Given the description of an element on the screen output the (x, y) to click on. 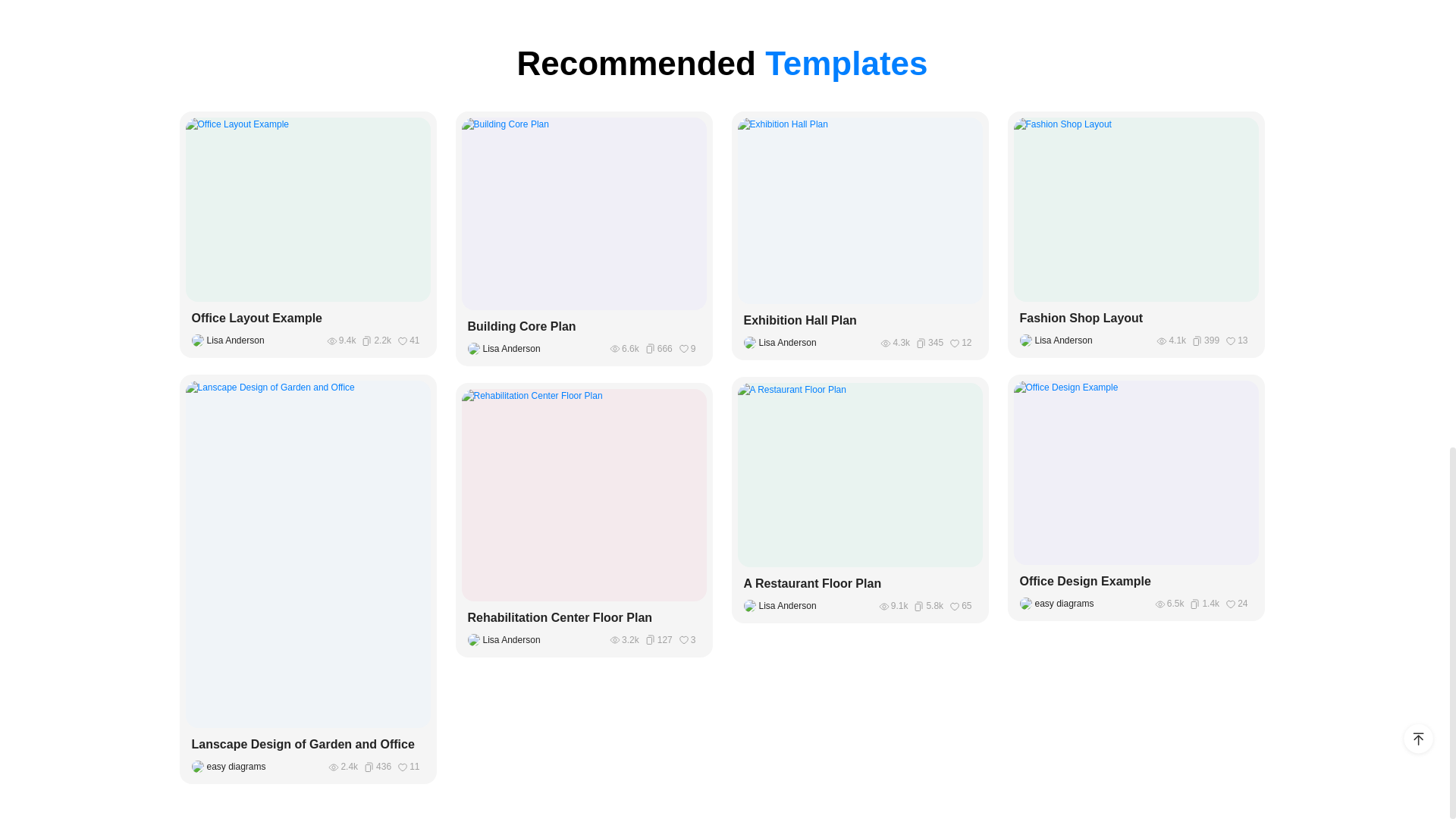
easy diagrams (1059, 603)
Fashion Shop Layout (1136, 318)
easy diagrams (231, 766)
A Restaurant Floor Plan (859, 583)
Building Core Plan (583, 326)
Office Layout Example (307, 318)
Lanscape Design of Garden and Office (307, 744)
Lisa Anderson (783, 342)
Rehabilitation Center Floor Plan (583, 618)
Lanscape Design of Garden and Office (307, 744)
